Given the description of an element on the screen output the (x, y) to click on. 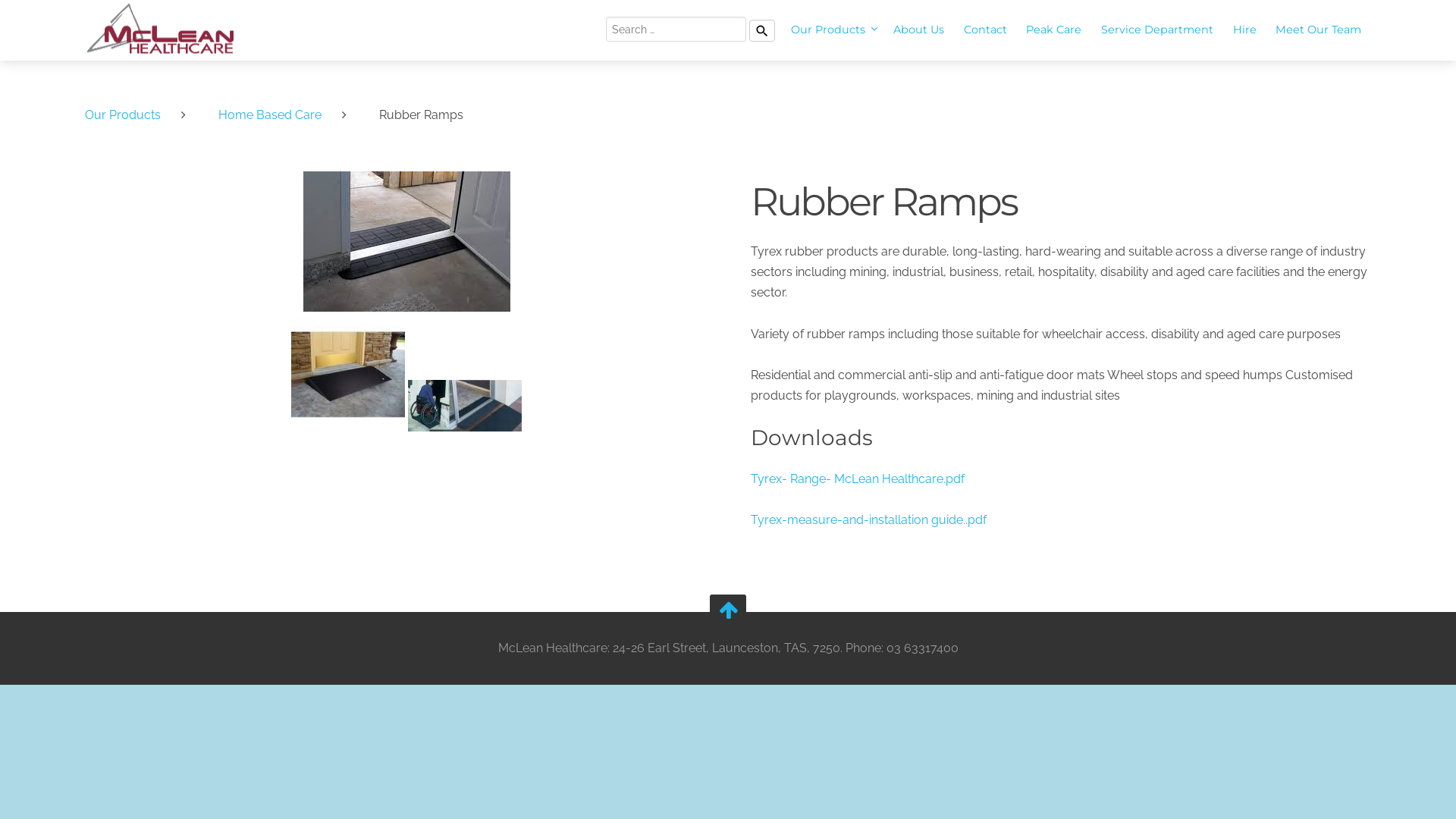
myimage Element type: hover (464, 405)
Rubber Ramps Element type: hover (406, 241)
Tyrex-measure-and-installation guide..pdf Element type: text (1060, 519)
Peak Care Element type: text (1054, 29)
About Us Element type: text (918, 29)
myimage Element type: hover (347, 374)
Contact Element type: text (984, 29)
Our Products Element type: text (129, 114)
Hire Element type: text (1244, 29)
Home Based Care Element type: text (277, 114)
Meet Our Team Element type: text (1318, 29)
Tyrex- Range- McLean Healthcare.pdf Element type: text (1060, 478)
Service Department Element type: text (1157, 29)
Our Products Element type: text (832, 29)
